Given the description of an element on the screen output the (x, y) to click on. 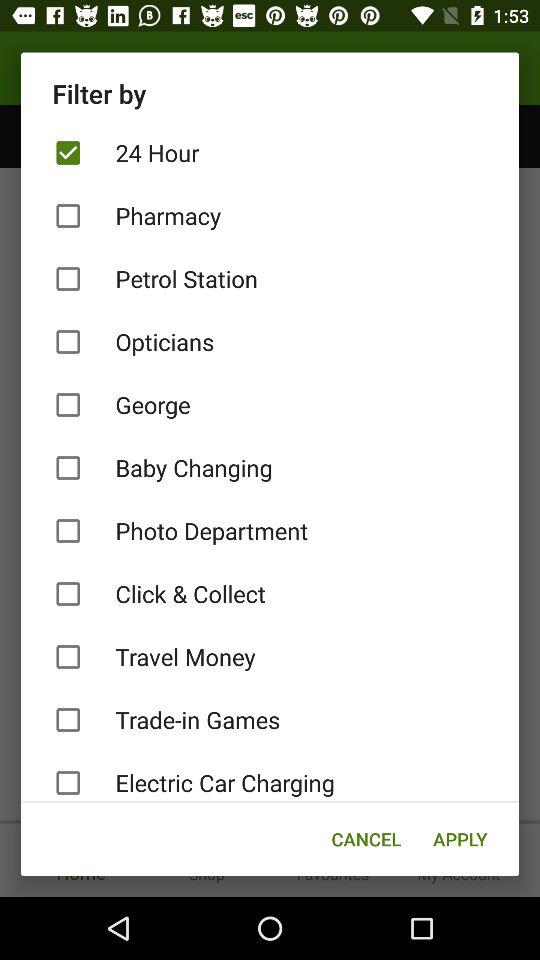
open item above pharmacy item (270, 152)
